Given the description of an element on the screen output the (x, y) to click on. 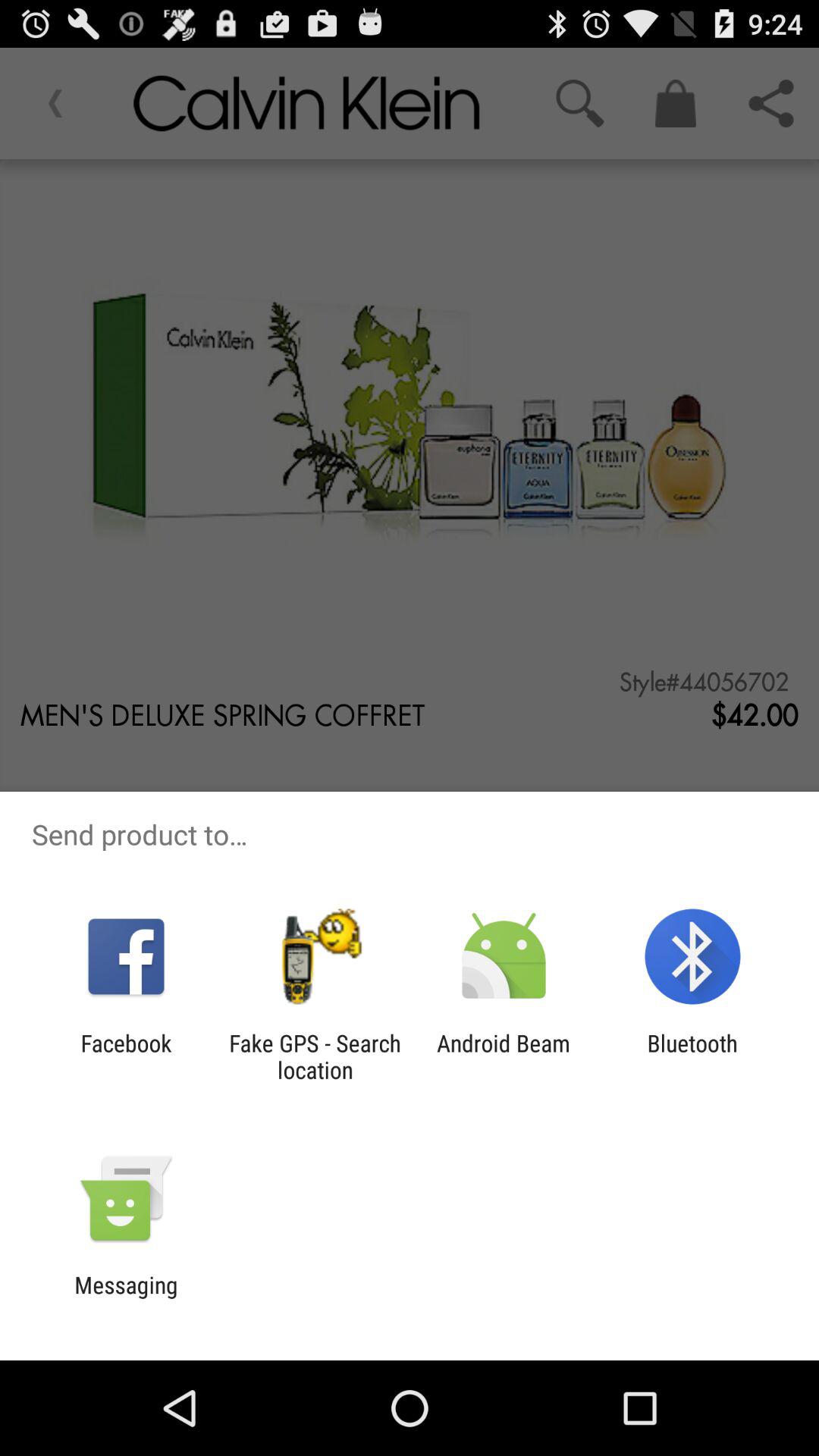
select the app next to android beam (692, 1056)
